Given the description of an element on the screen output the (x, y) to click on. 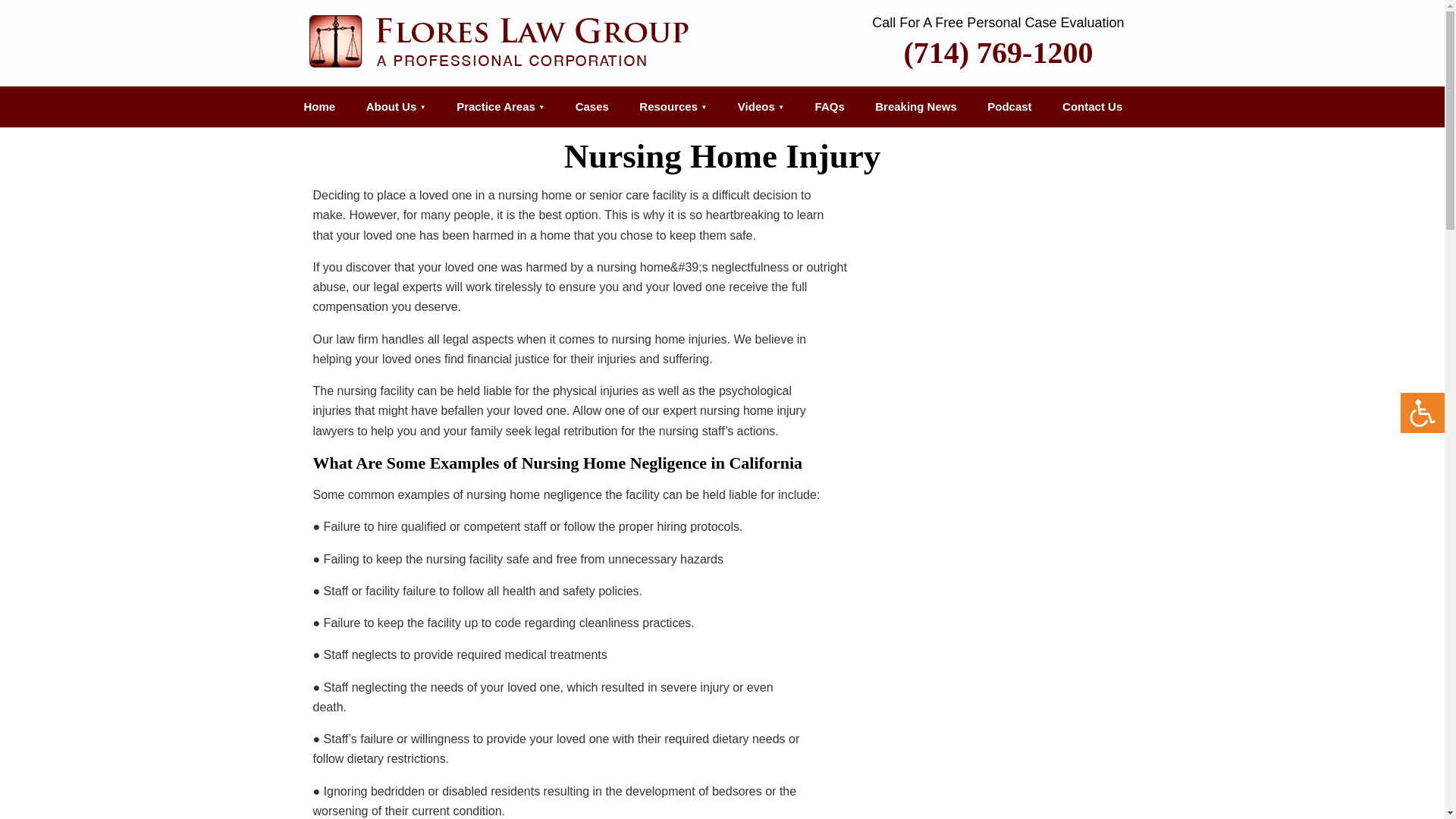
About Us (395, 106)
Home (319, 106)
Practice Areas (499, 106)
